Given the description of an element on the screen output the (x, y) to click on. 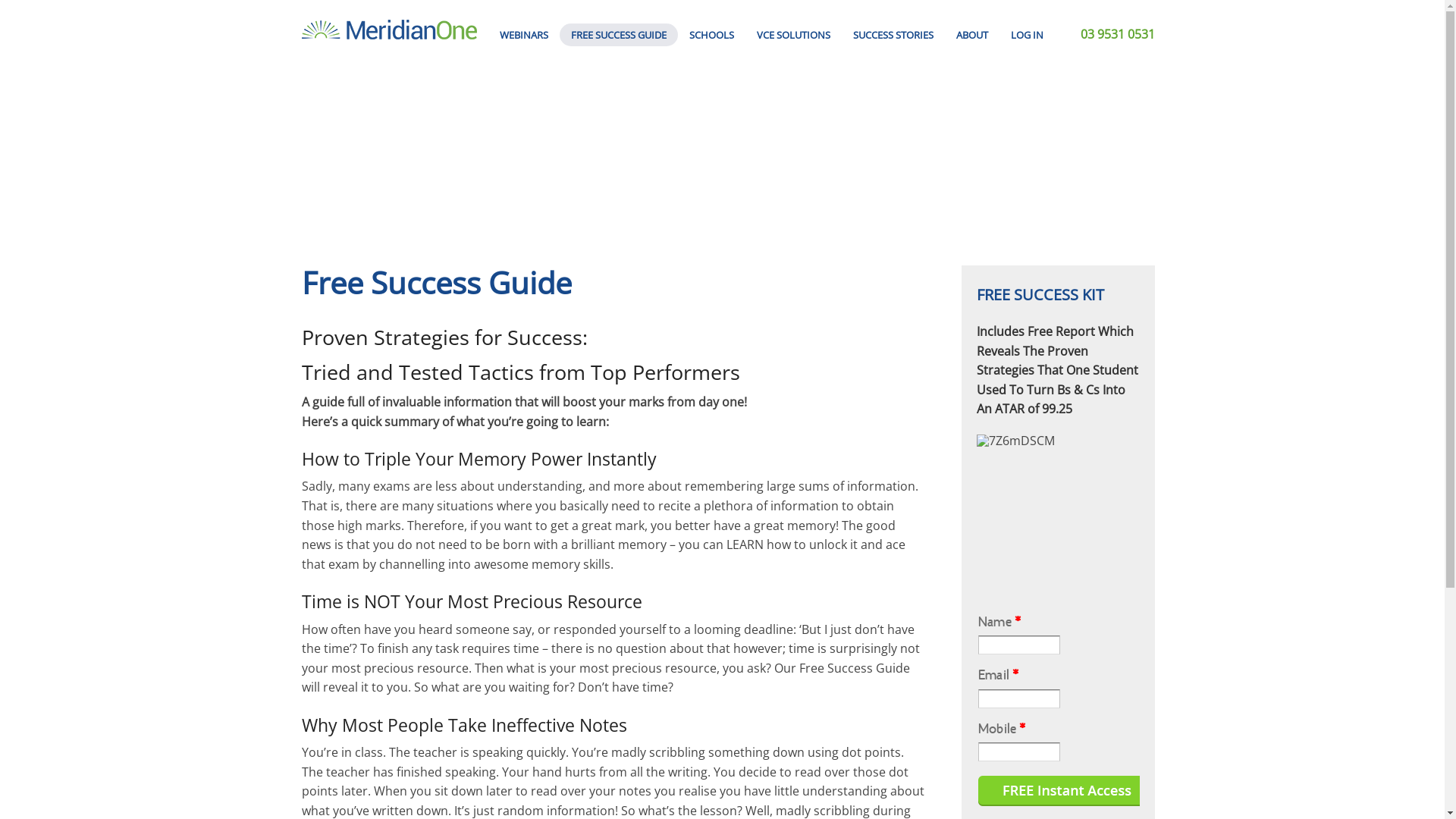
ACT SSC SUCCESS WEBINAR Element type: text (523, 199)
SACE SUCCESS WEBINAR Element type: text (523, 233)
ABOUT US Element type: text (971, 63)
WACE SUCCESS WEBINAR Element type: text (523, 165)
PARENTS Element type: text (892, 97)
ONE DAY VCE SUCCESS Element type: text (792, 97)
HSC SUCCESS WEBINAR Element type: text (523, 97)
SCHOOLS Element type: text (711, 34)
VCE SUCCESS WEBINAR Element type: text (523, 63)
VCE SOLUTIONS Element type: text (792, 34)
LOG IN Element type: text (1026, 34)
VCE SUCCESS SYSTEM Element type: text (792, 131)
FREE SUCCESS GUIDE Element type: text (618, 34)
STUDENTS Element type: text (892, 63)
QCE SUCCESS WEBINAR Element type: text (523, 131)
CONTACT US Element type: text (971, 97)
WEBINARS Element type: text (523, 34)
JOBS Element type: text (971, 131)
ABOUT Element type: text (971, 34)
BLOG Element type: text (971, 165)
SUCCESS STORIES Element type: text (892, 34)
SCHOOLS Element type: text (892, 131)
FREE VCE SUCCESS SEMINAR Element type: text (792, 63)
Meridian One Element type: hover (388, 28)
